Given the description of an element on the screen output the (x, y) to click on. 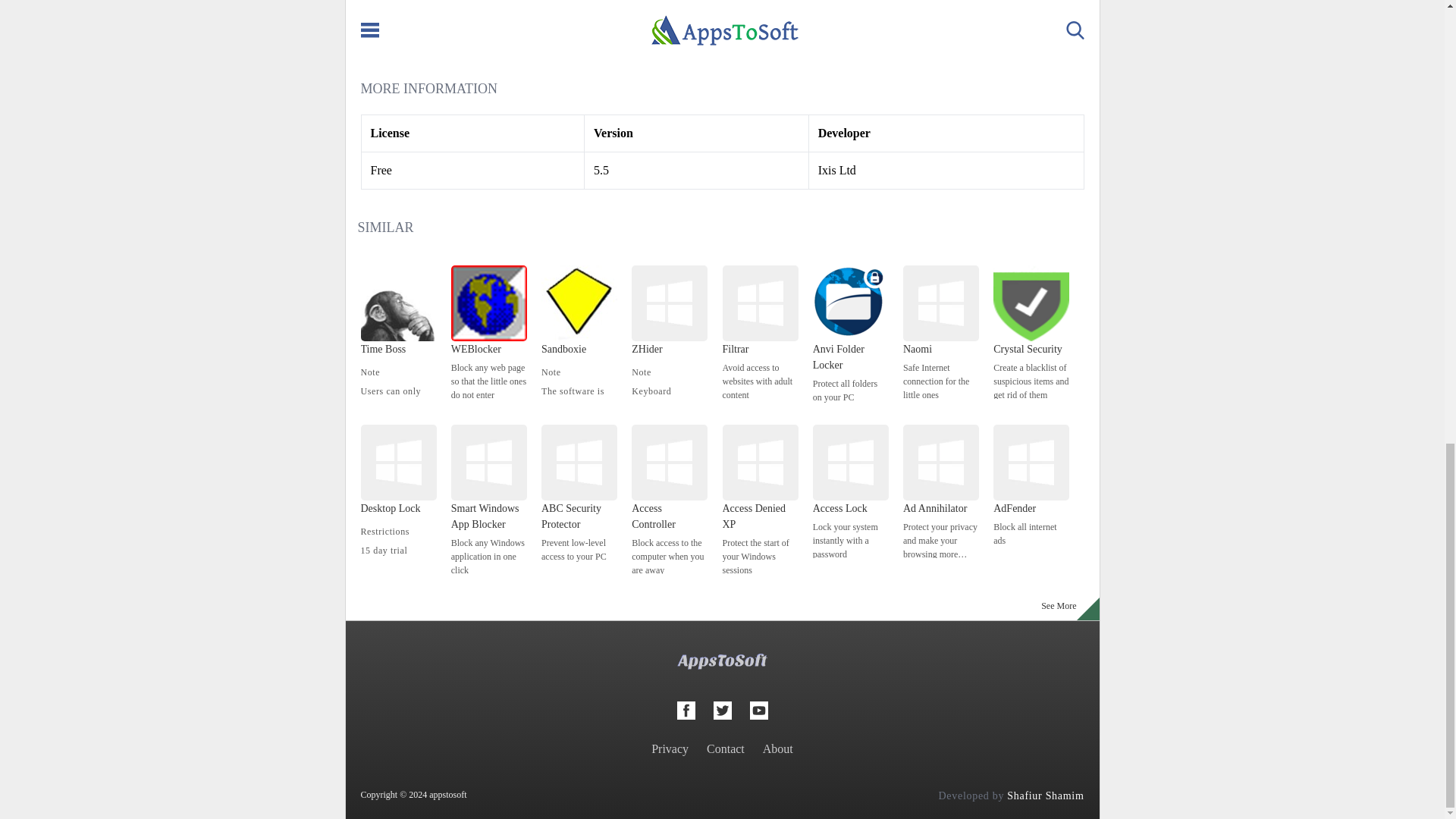
Privacy (669, 748)
SIMILAR (385, 227)
Contact (725, 748)
Advertisement (722, 23)
Contact (725, 748)
See More (1058, 608)
About (777, 748)
Privacy (669, 748)
